Given the description of an element on the screen output the (x, y) to click on. 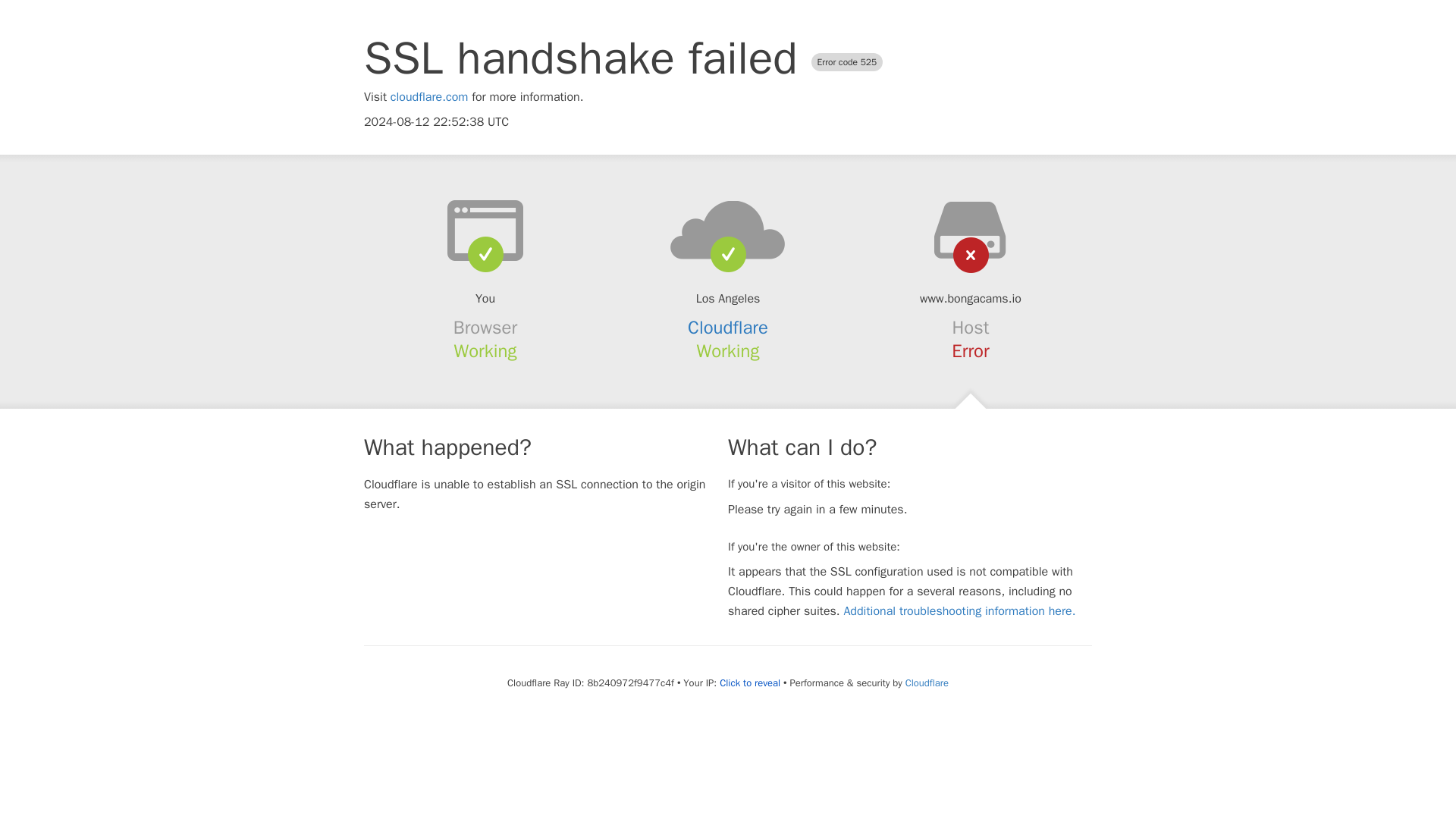
Cloudflare (927, 682)
Additional troubleshooting information here. (959, 611)
Cloudflare (727, 327)
Click to reveal (749, 683)
cloudflare.com (429, 96)
